Given the description of an element on the screen output the (x, y) to click on. 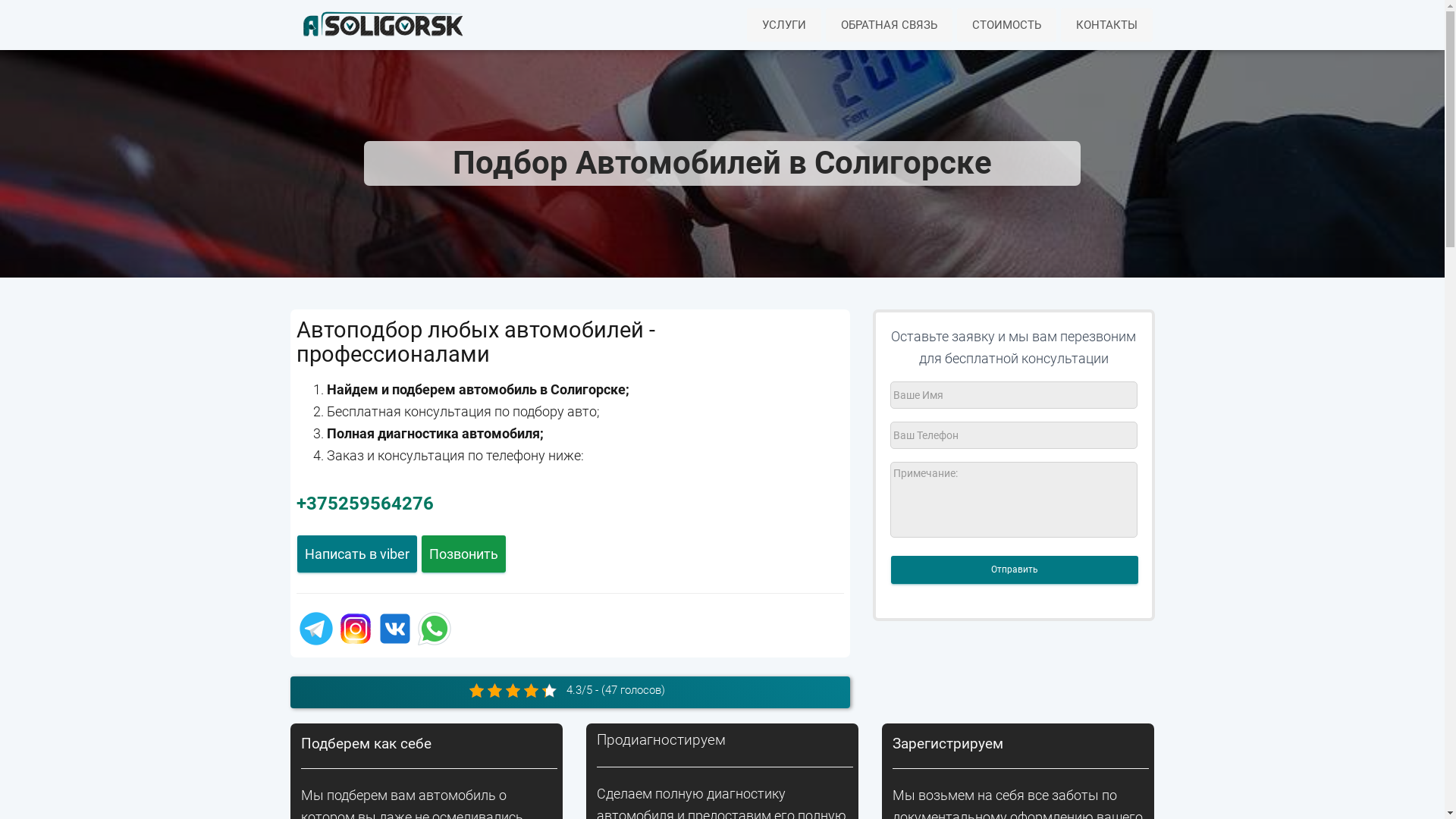
+375259564276 Element type: text (364, 503)
